Given the description of an element on the screen output the (x, y) to click on. 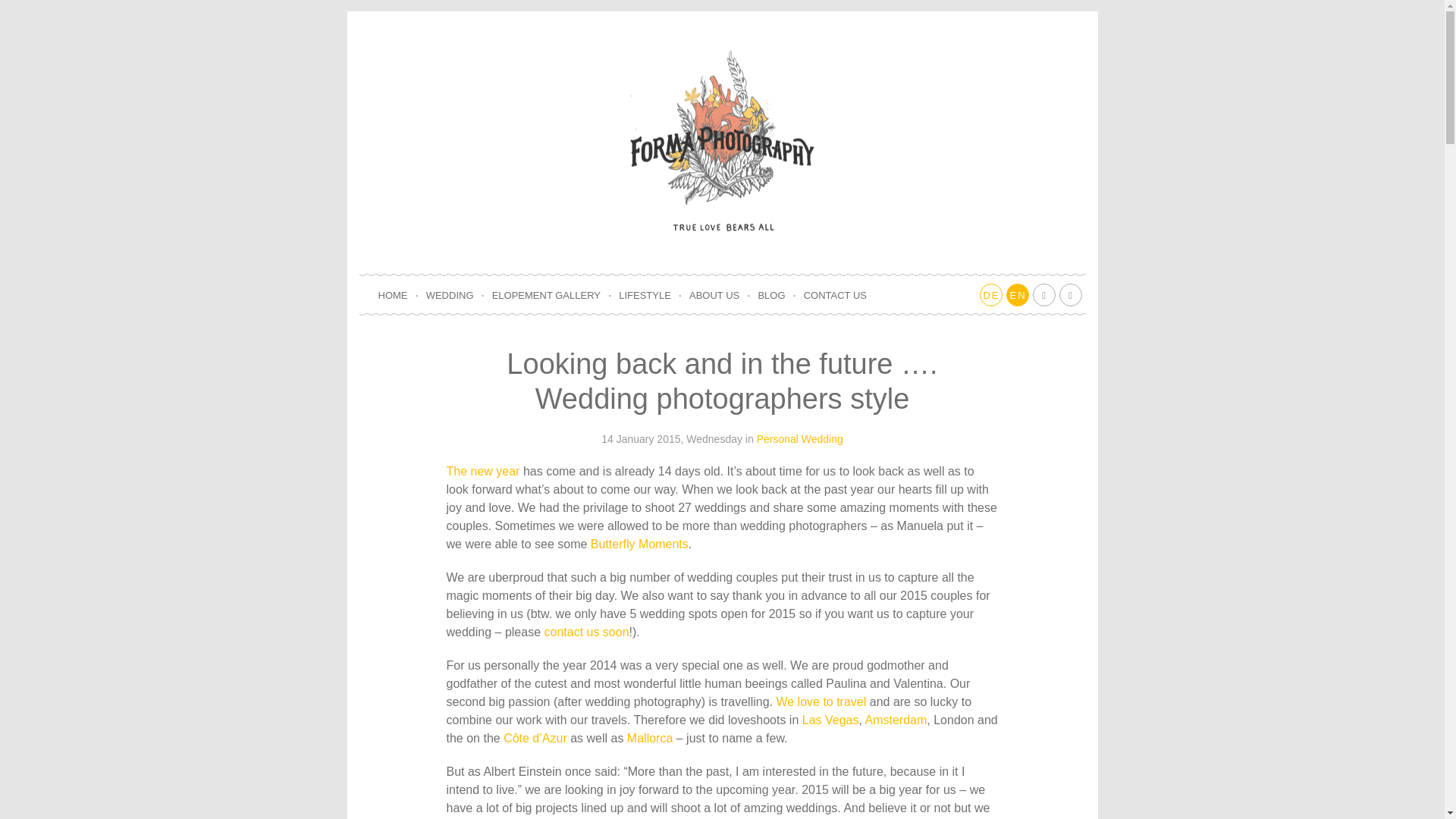
Amsterdam (895, 719)
Wedding (822, 439)
CONTACT US (834, 295)
EN (1016, 294)
DE (991, 294)
About Us (713, 295)
ABOUT US (713, 295)
The new year (483, 471)
Elopement Gallery (545, 295)
Las Vegas (830, 719)
ELOPEMENT GALLERY (545, 295)
Blog (770, 295)
Fernwehosophy (821, 701)
Wedding (450, 295)
